Given the description of an element on the screen output the (x, y) to click on. 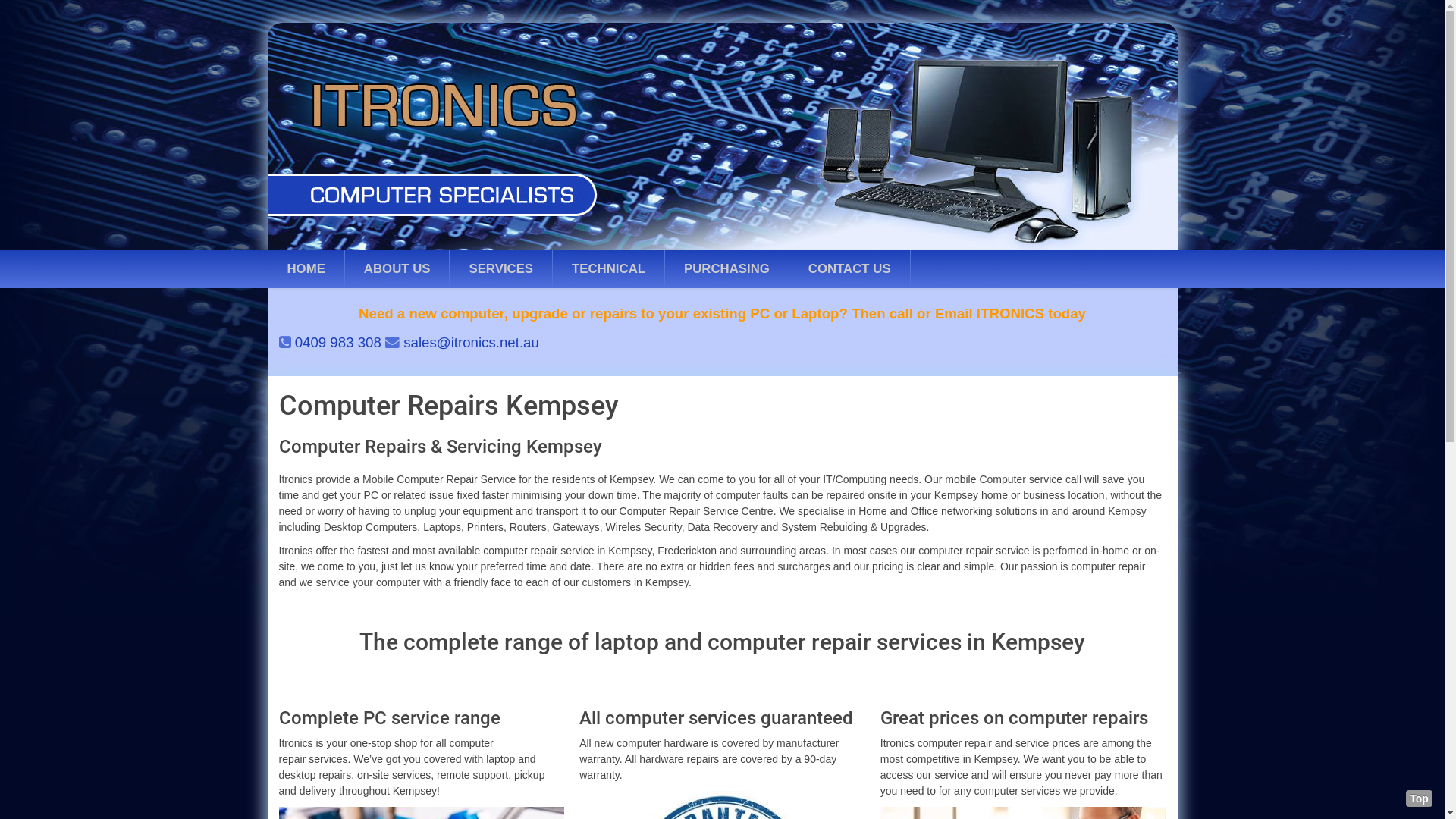
ABOUT US Element type: text (397, 269)
PURCHASING Element type: text (726, 269)
TECHNICAL Element type: text (608, 269)
Top Element type: text (1418, 798)
0409 983 308 Element type: text (337, 342)
sales@itronics.net.au Element type: text (471, 342)
CONTACT US Element type: text (849, 269)
SERVICES Element type: text (500, 269)
HOME Element type: text (306, 269)
